Given the description of an element on the screen output the (x, y) to click on. 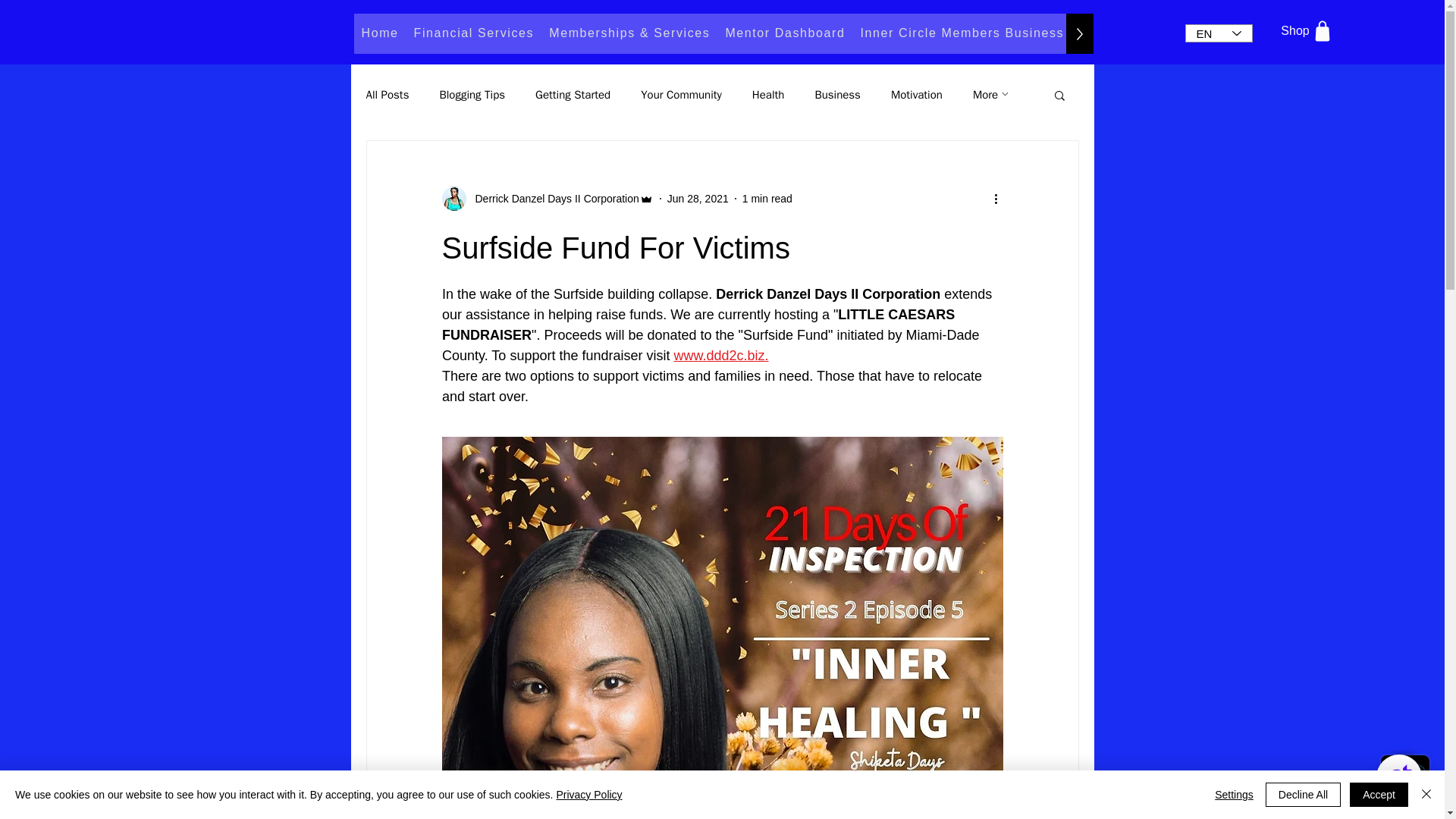
Mentor Dashboard (784, 33)
1 min read (767, 198)
Business (836, 94)
www.ddd2c.biz. (720, 355)
Derrick Danzel Days II Corporation (552, 198)
Home (379, 33)
Health (768, 94)
Financial Services (473, 33)
Inner Circle Paid Plan (1215, 33)
Jun 28, 2021 (697, 198)
Shop (1308, 30)
Motivation (916, 94)
Inner Circle Members Business Directory (994, 33)
Getting Started (572, 94)
All Posts (387, 94)
